Given the description of an element on the screen output the (x, y) to click on. 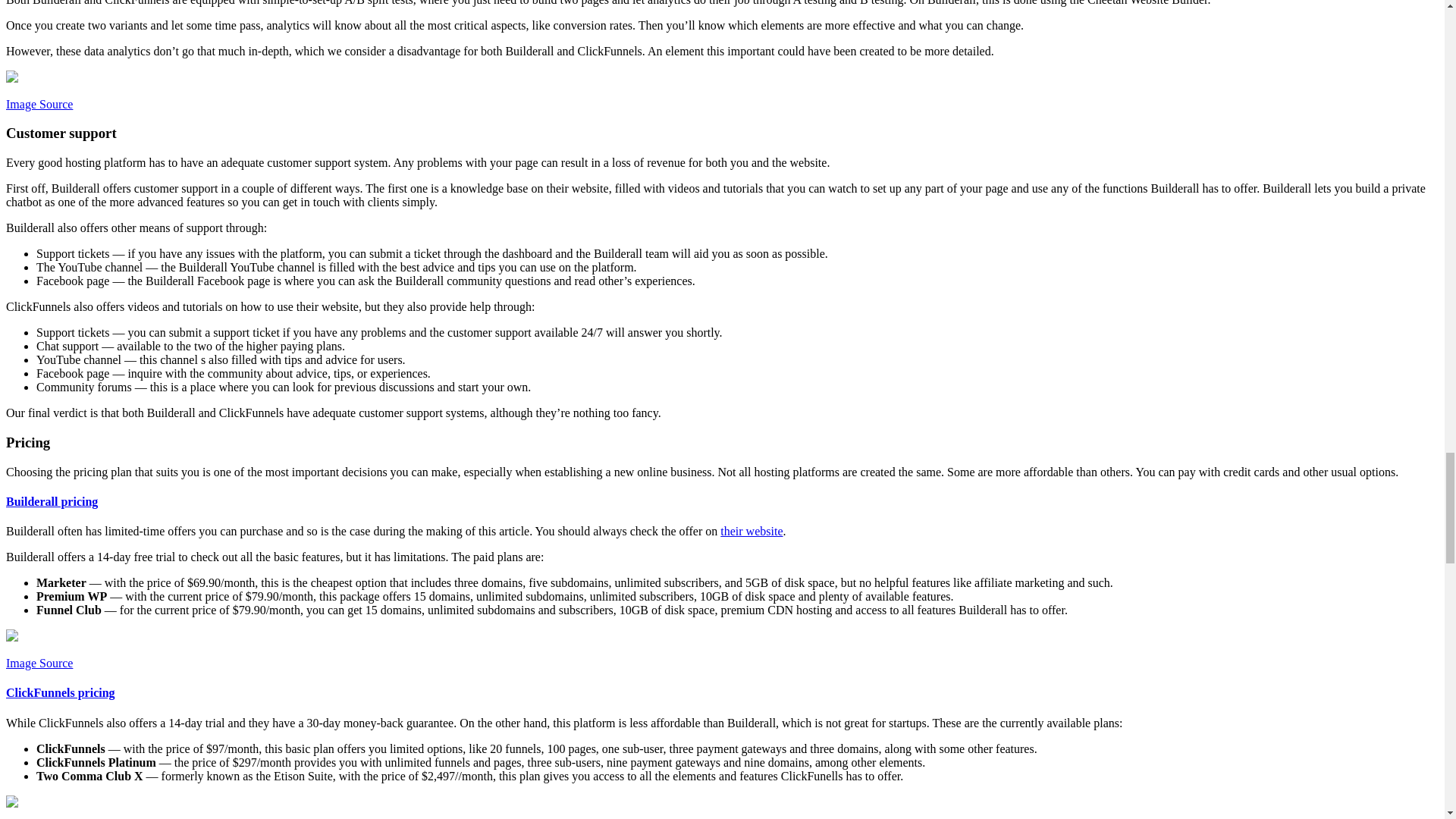
Image Source (38, 662)
Image Source (38, 103)
their website (751, 530)
Builderall pricing (51, 501)
